Given the description of an element on the screen output the (x, y) to click on. 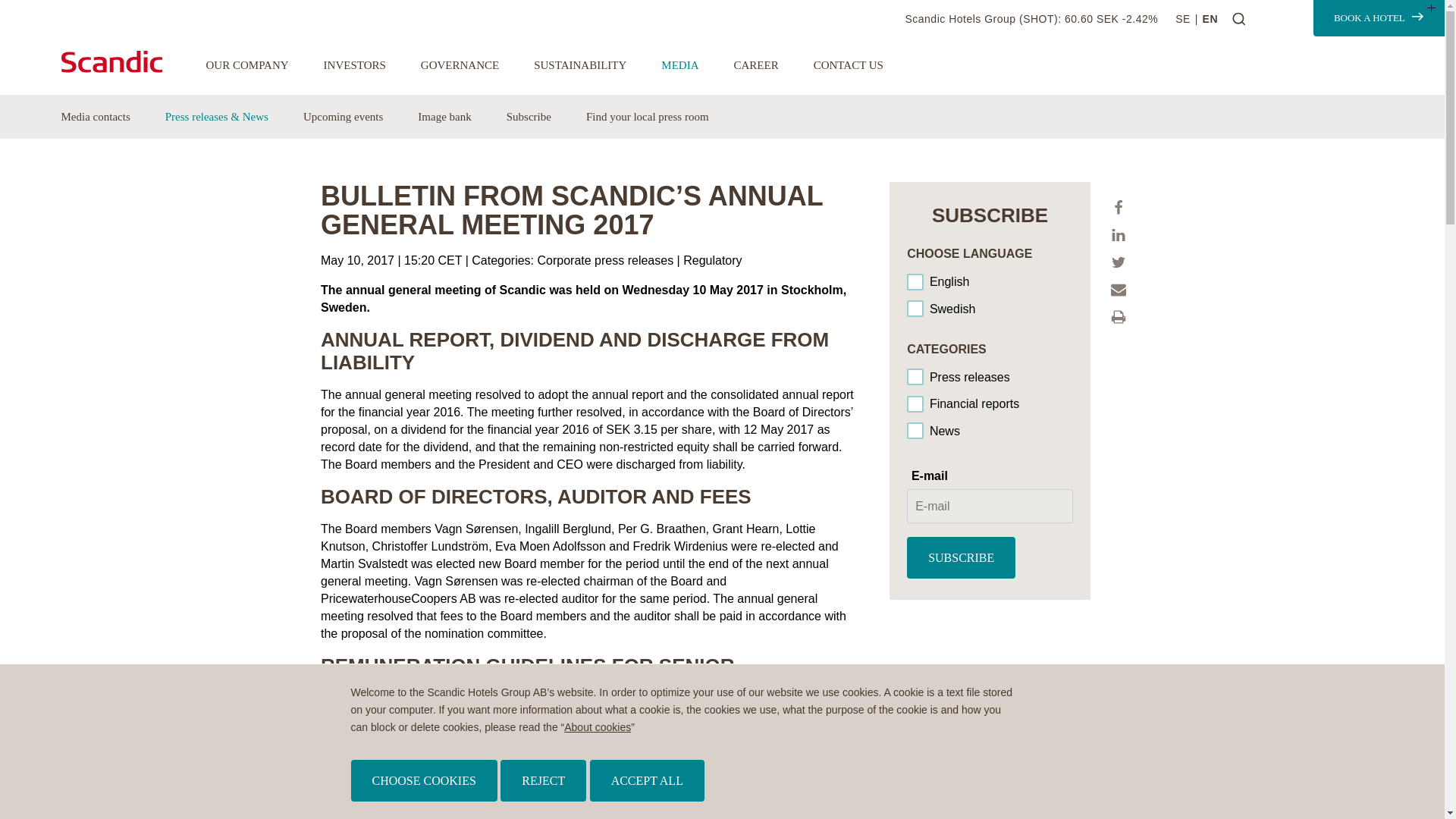
Logotype (111, 61)
en (915, 282)
OUR COMPANY (247, 65)
sv (915, 309)
3t443wbvvw (915, 431)
Twitter (1117, 262)
Logotype (124, 63)
E-mail (1117, 289)
dfw34g43 (915, 404)
Print (1117, 316)
Facebook (1117, 207)
INVESTORS (354, 65)
EN (1209, 19)
7y9r3yrp39h (915, 377)
LinkedIn (1117, 234)
